Given the description of an element on the screen output the (x, y) to click on. 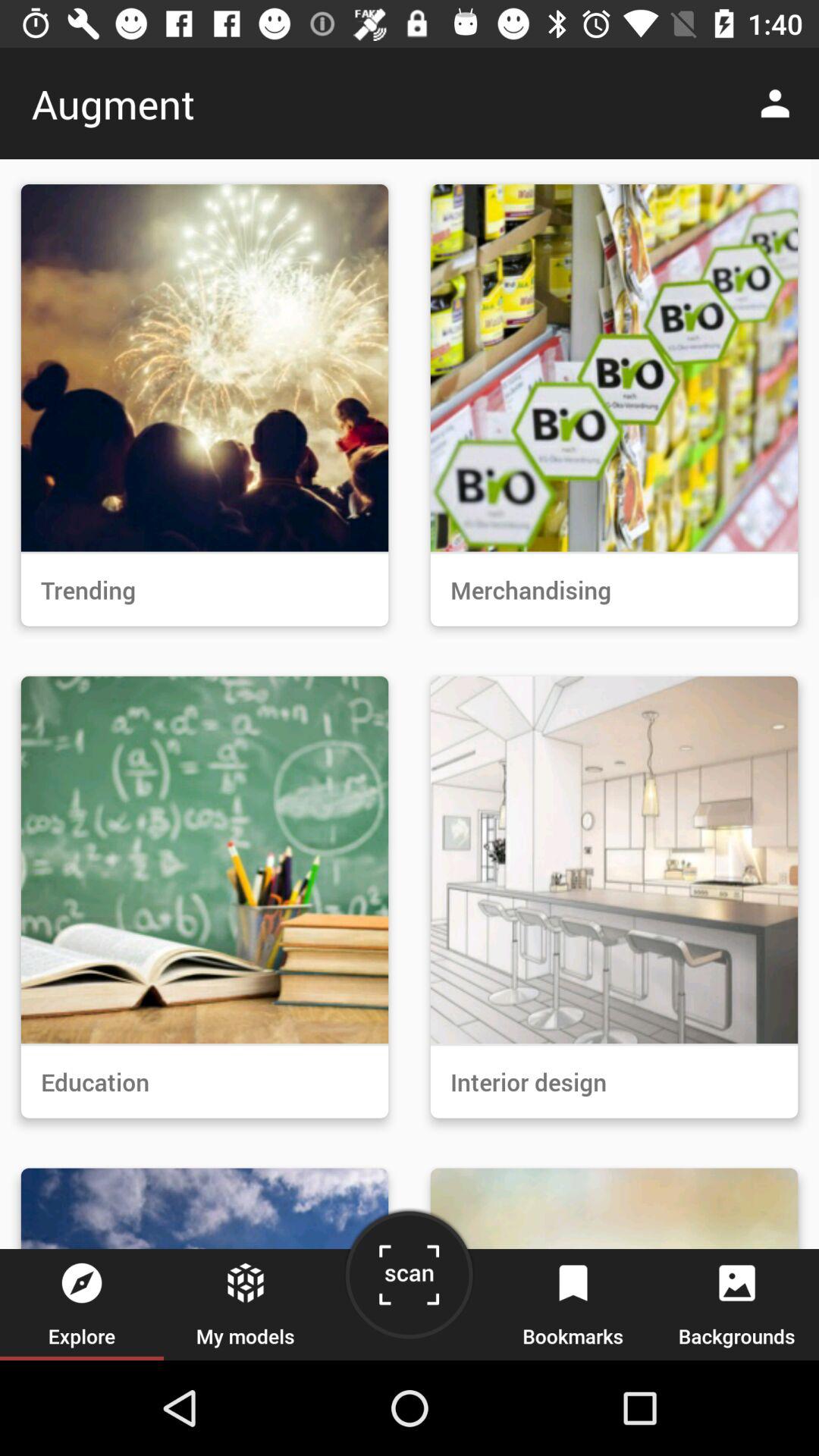
turn on the item next to augment icon (779, 103)
